Given the description of an element on the screen output the (x, y) to click on. 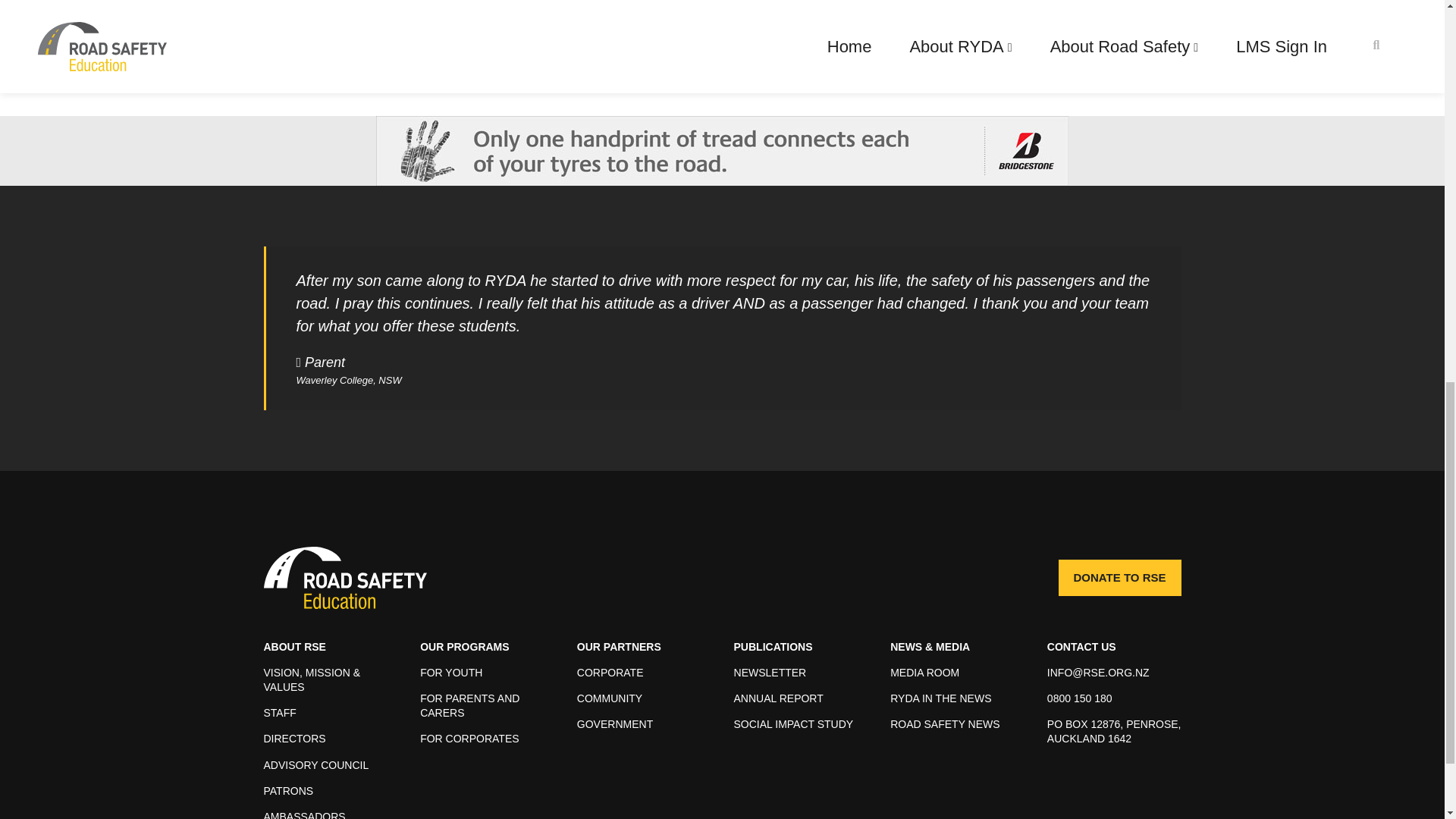
DONATE TO RSE (1119, 578)
VISIT THE BORAL WEBSITE (354, 28)
ABOUT RSE (294, 646)
